Given the description of an element on the screen output the (x, y) to click on. 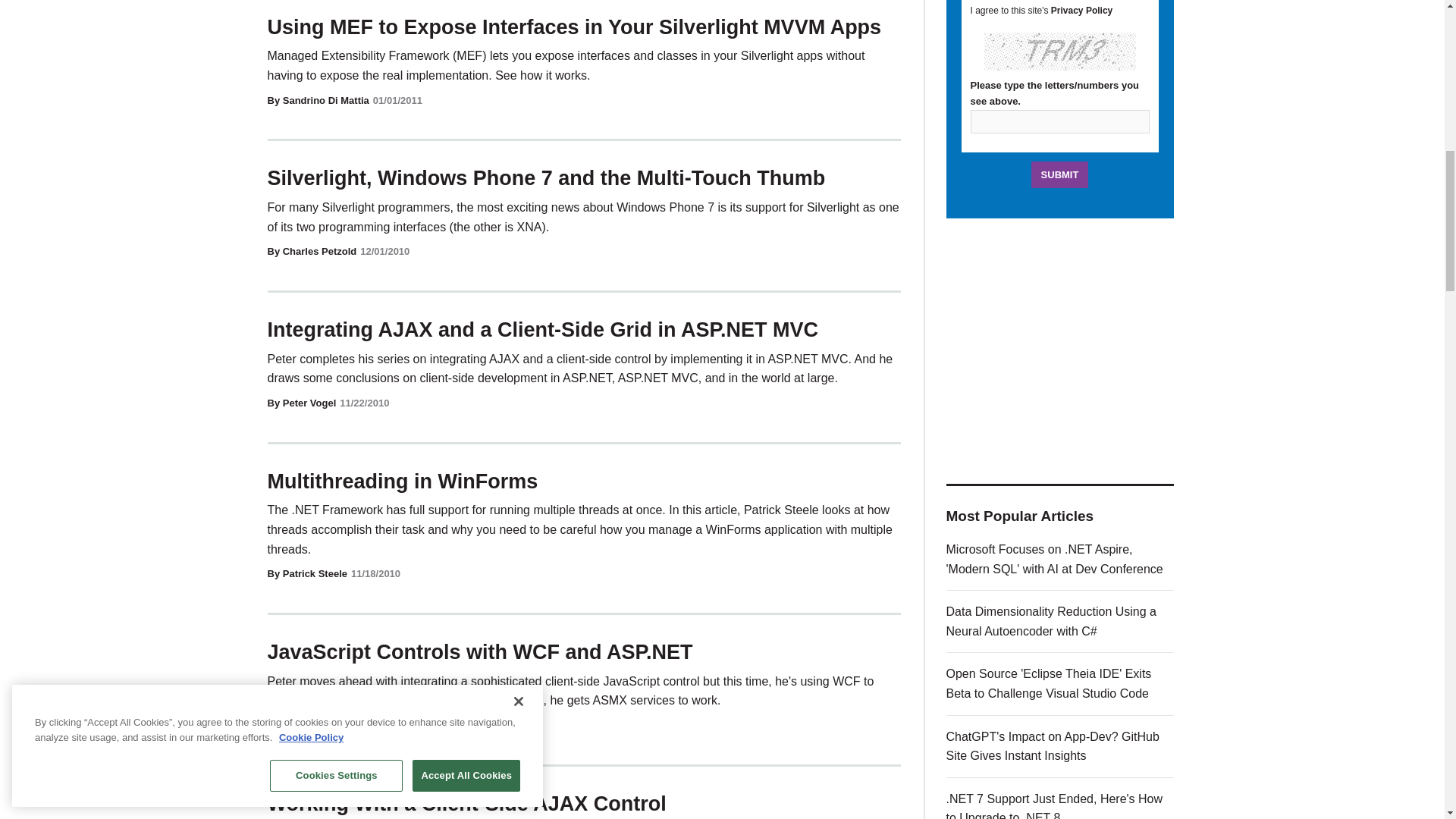
3rd party ad content (1059, 350)
Submit (1059, 174)
